Given the description of an element on the screen output the (x, y) to click on. 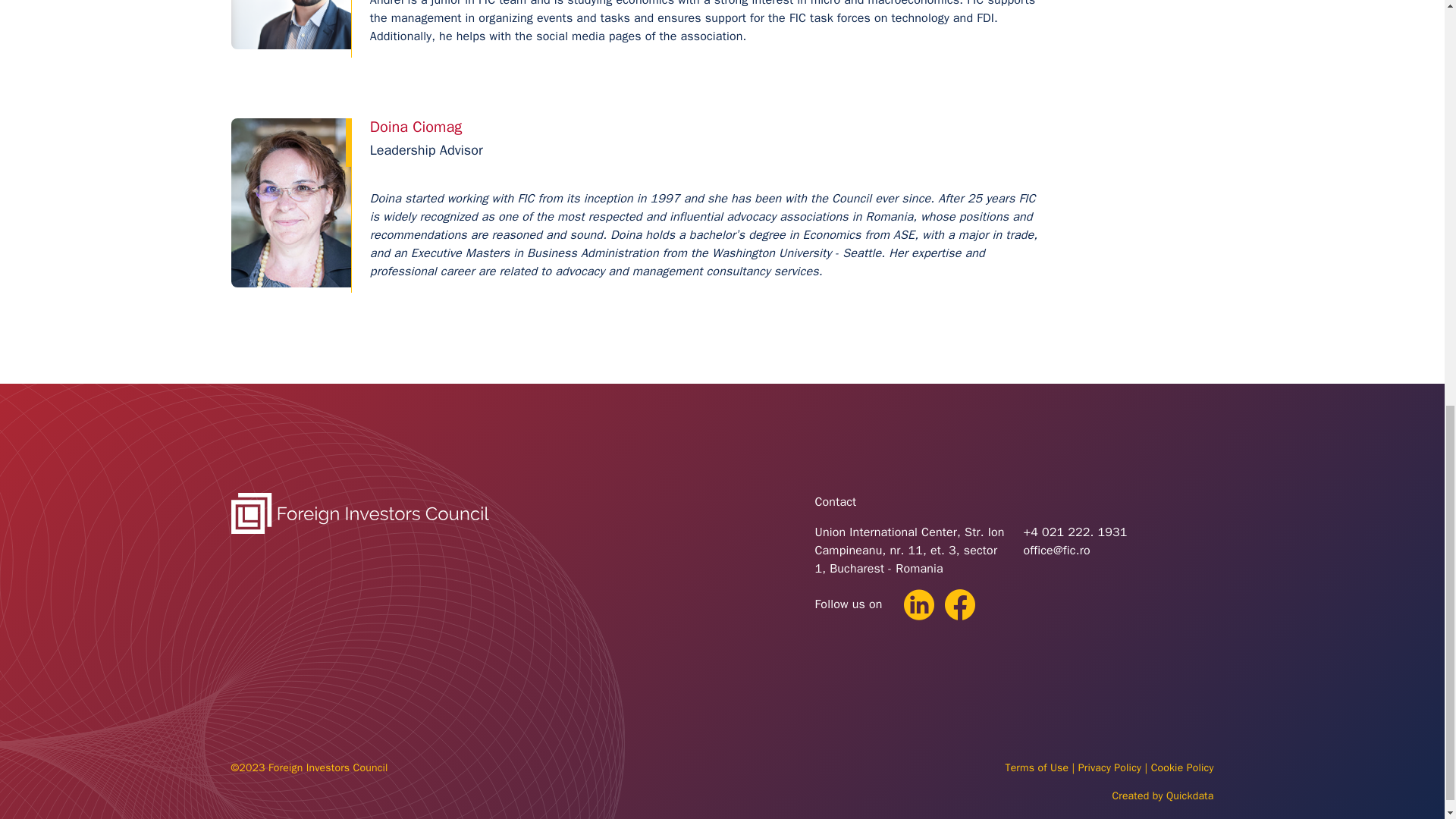
Privacy Policy (1109, 767)
Terms of Use (1036, 767)
Quickdata (1190, 795)
Quickdata (1190, 795)
Cookie Policy (1182, 767)
